Given the description of an element on the screen output the (x, y) to click on. 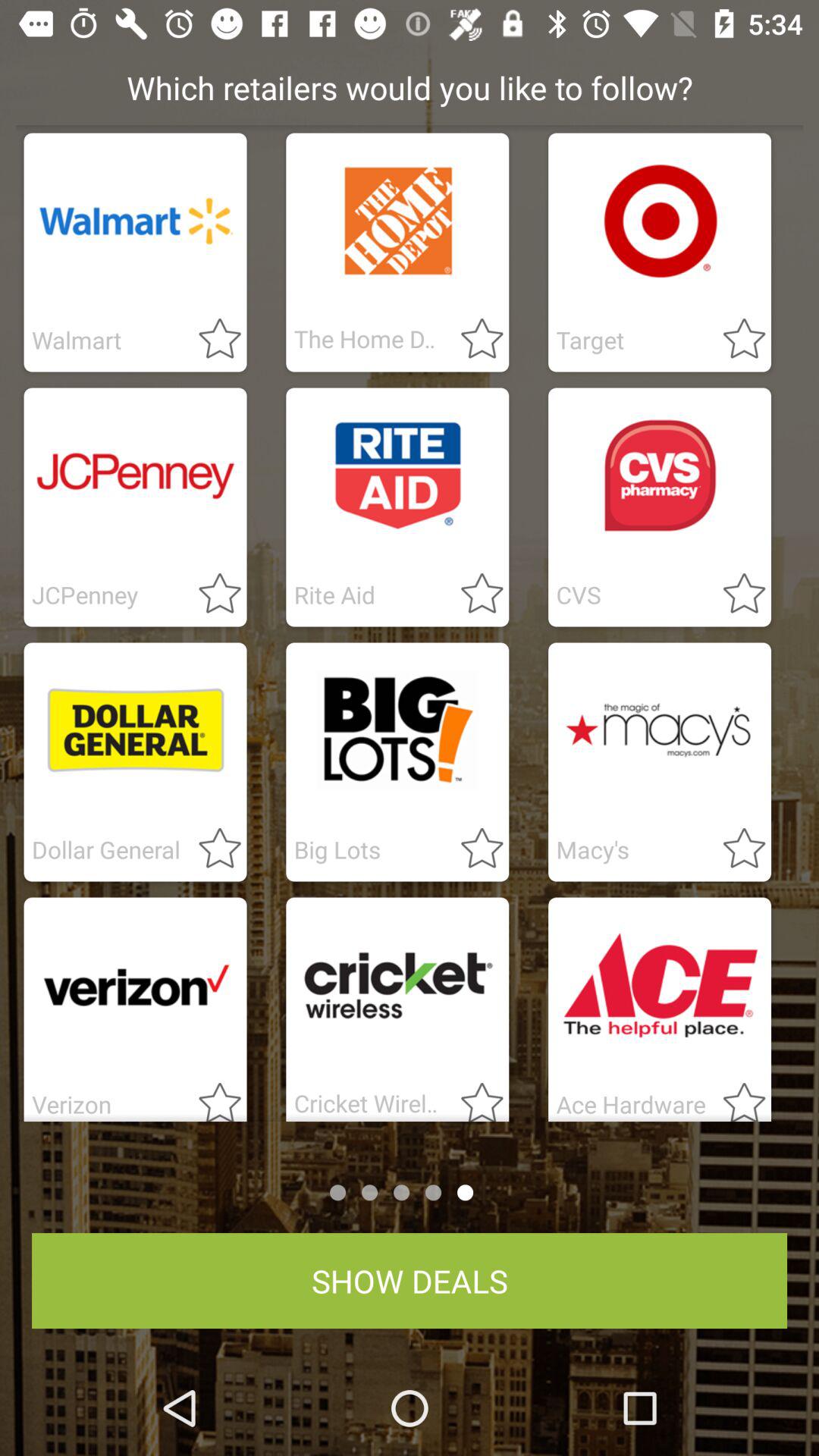
follow this retailer (210, 594)
